Given the description of an element on the screen output the (x, y) to click on. 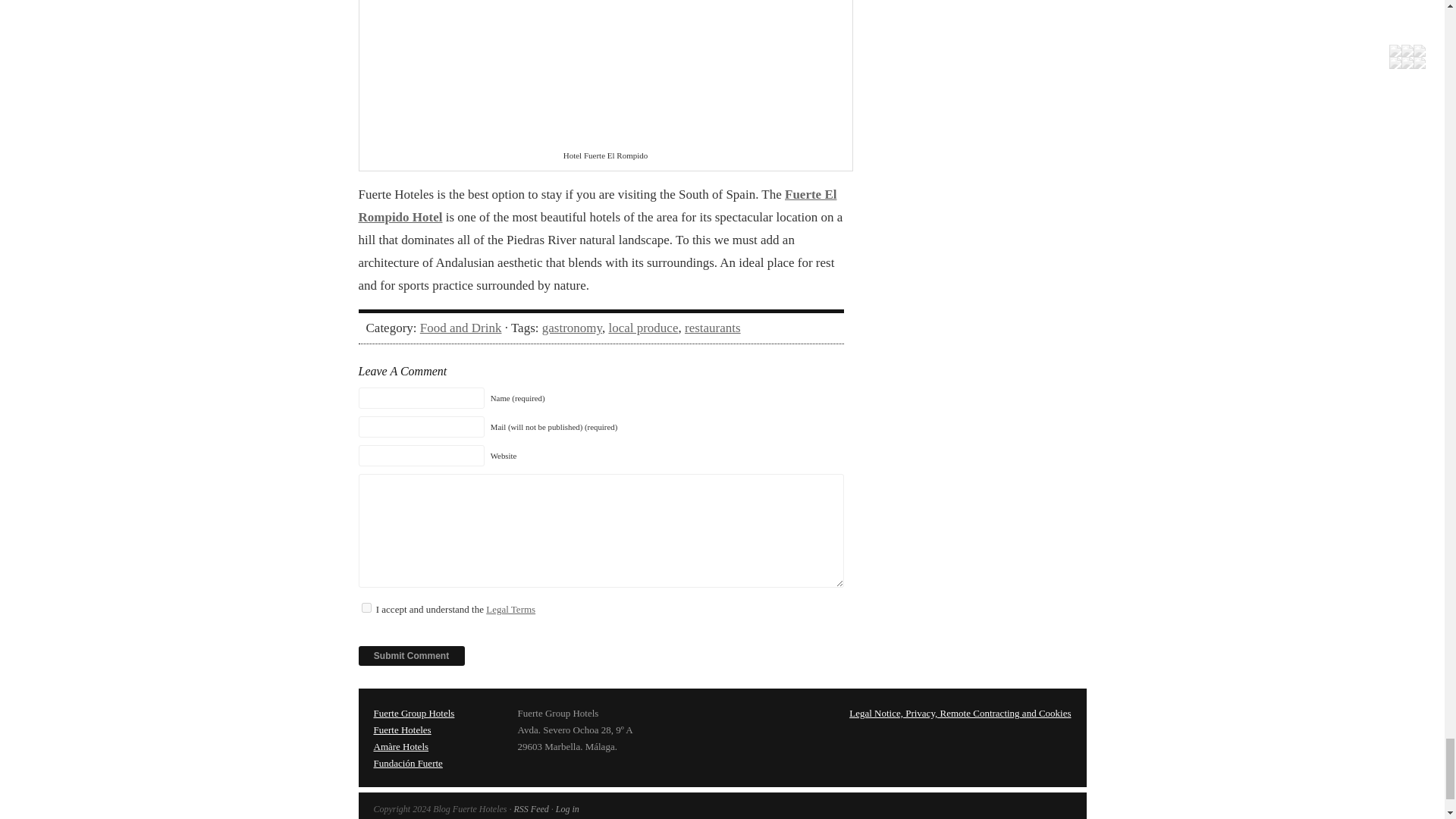
1 (366, 607)
Fuerte Group Hotels (413, 713)
Submit Comment (411, 655)
Fuerte Hoteles (401, 729)
